Given the description of an element on the screen output the (x, y) to click on. 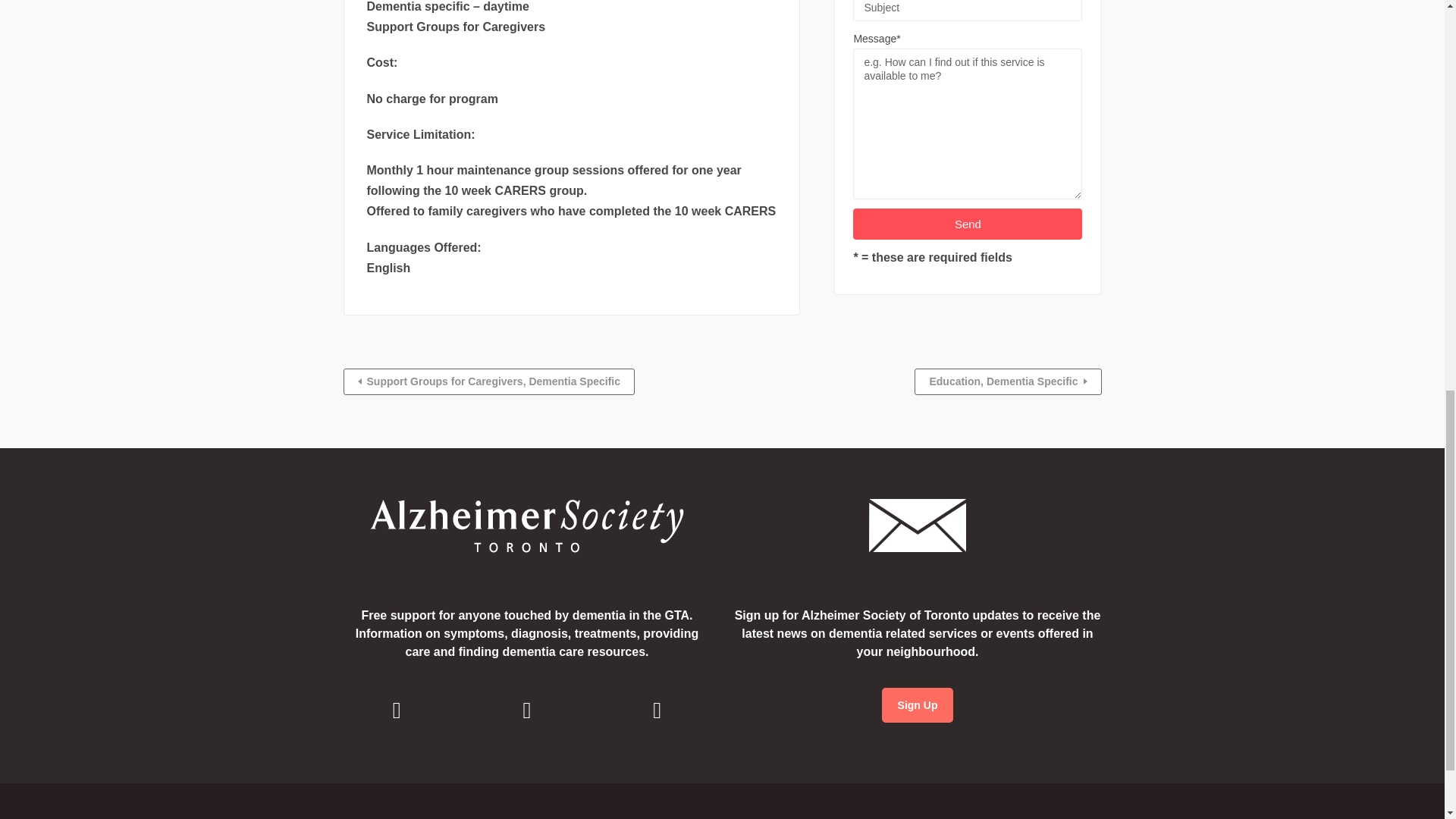
Instagram (526, 710)
Send (967, 223)
Twitter (657, 710)
Send (967, 223)
Facebook (396, 710)
Education, Dementia Specific (1007, 381)
email-signup-white (917, 524)
AST Email Updates (917, 704)
Sign Up (917, 704)
Support Groups for Caregivers, Dementia Specific (488, 381)
